Given the description of an element on the screen output the (x, y) to click on. 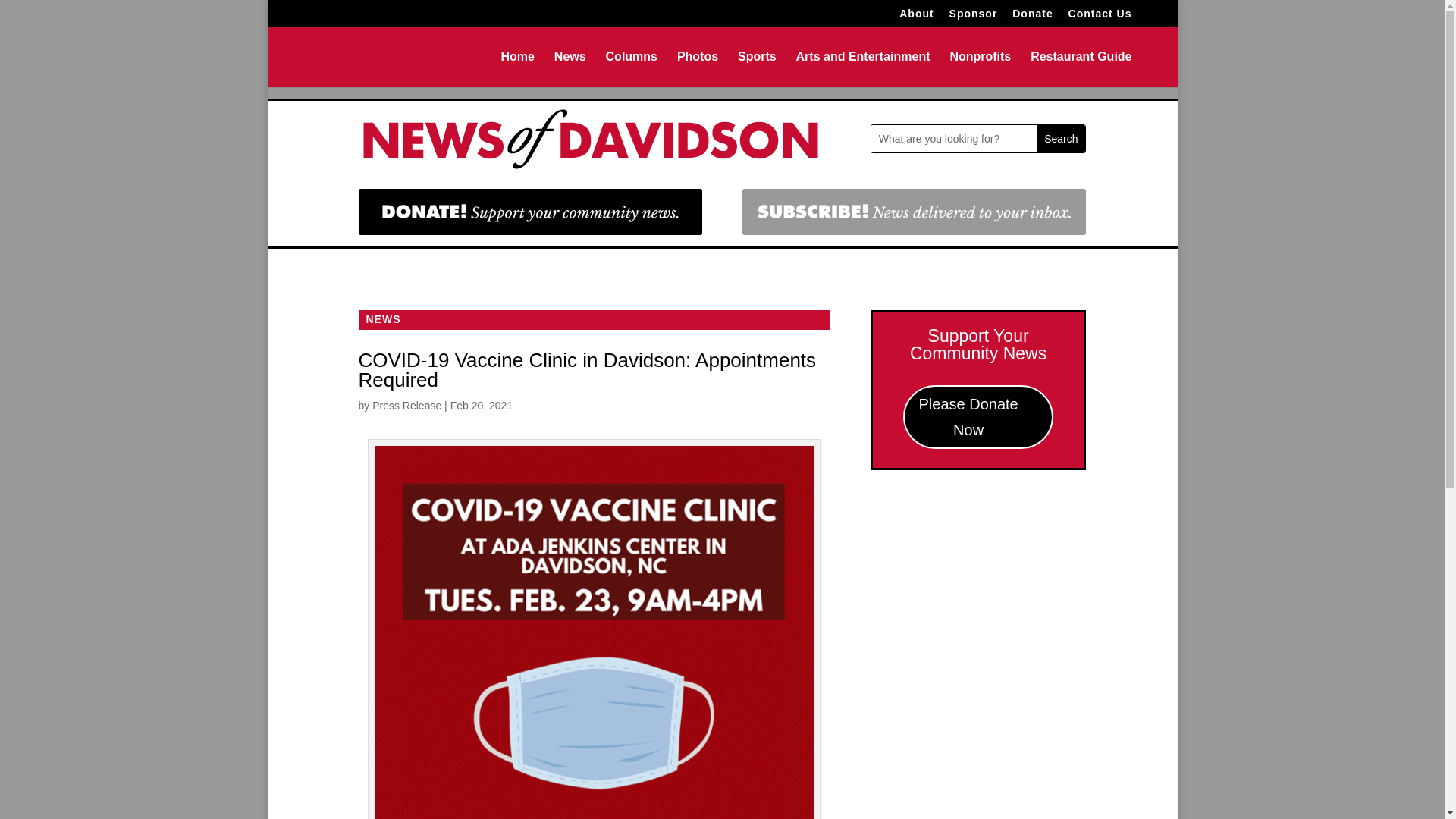
Search (1060, 138)
Restaurant Guide (1080, 68)
Columns (631, 68)
SubscribeButton-02 (914, 212)
DonateButton-01 (529, 212)
Search (1060, 138)
Search (1060, 138)
Press Release (406, 405)
Please Donate Now (978, 416)
Home (517, 68)
Contact Us (1100, 16)
Photos (697, 68)
Donate (1031, 16)
About (916, 16)
Arts and Entertainment (863, 68)
